Given the description of an element on the screen output the (x, y) to click on. 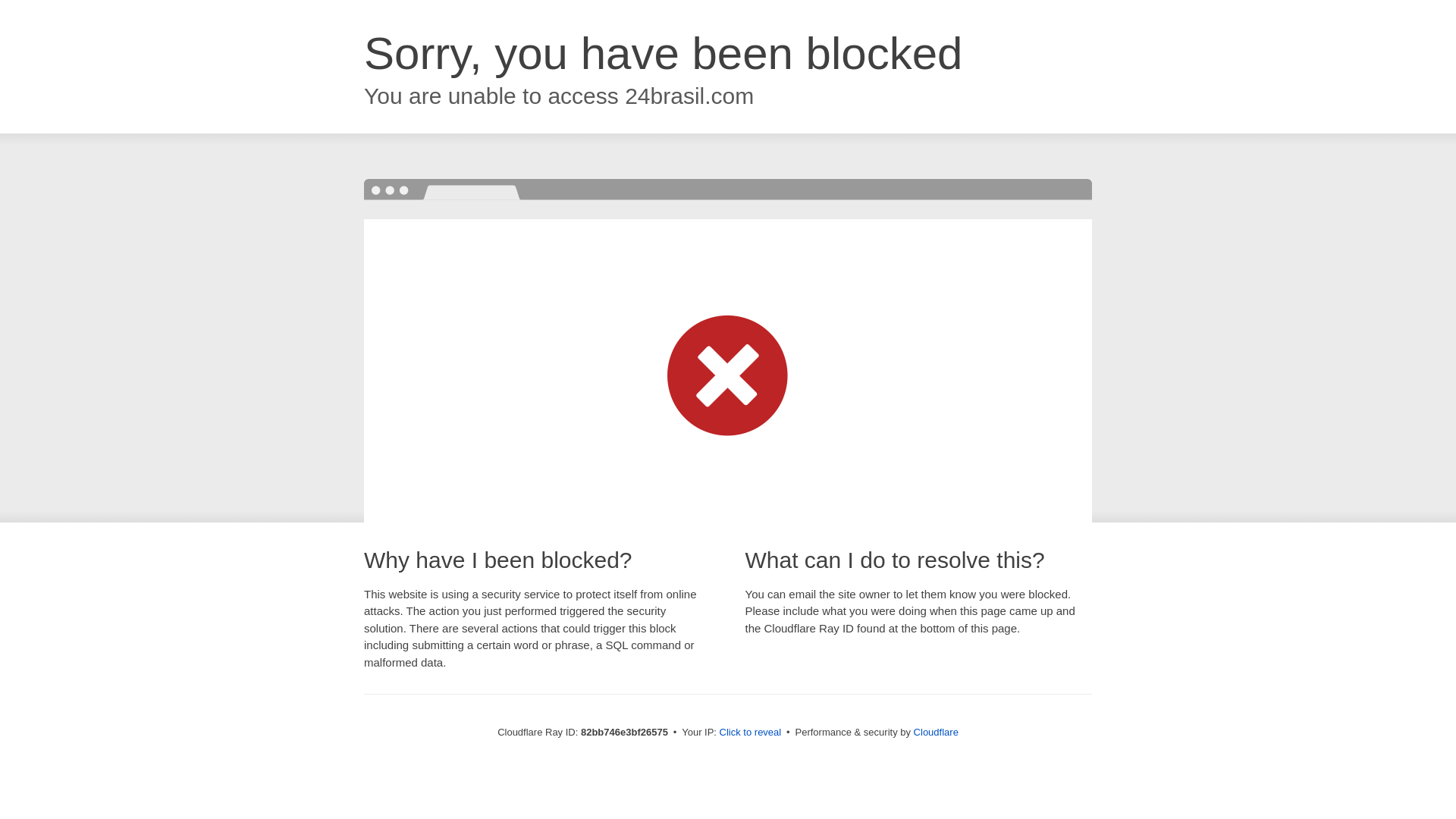
Cloudflare Element type: text (935, 731)
Click to reveal Element type: text (750, 732)
